Given the description of an element on the screen output the (x, y) to click on. 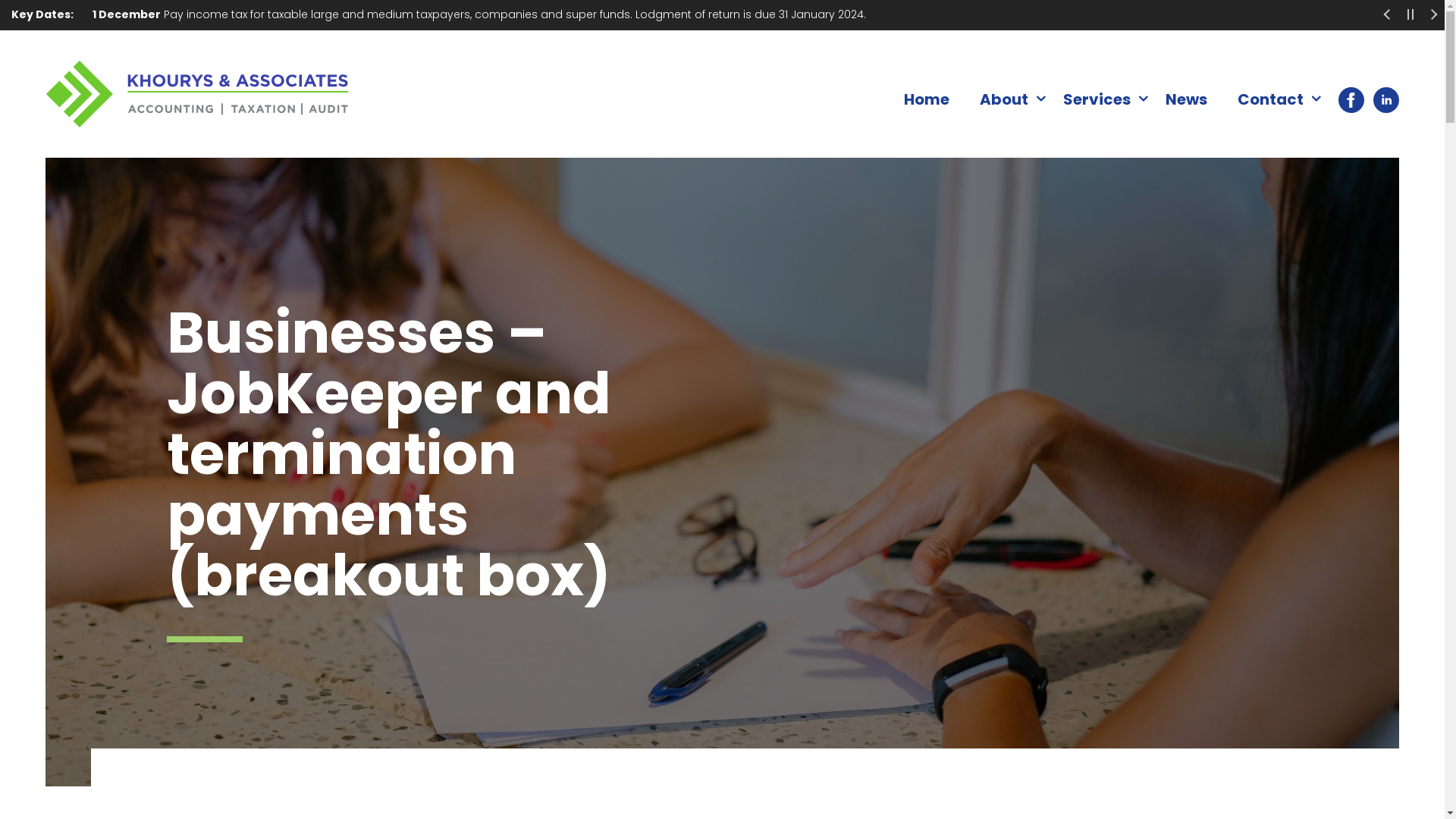
Services Element type: text (1099, 98)
News Element type: text (1186, 98)
Contact Element type: text (1272, 98)
Facebook Element type: text (1343, 98)
About Element type: text (1006, 98)
LinkedIn Element type: text (1381, 98)
Home Element type: text (926, 98)
